Given the description of an element on the screen output the (x, y) to click on. 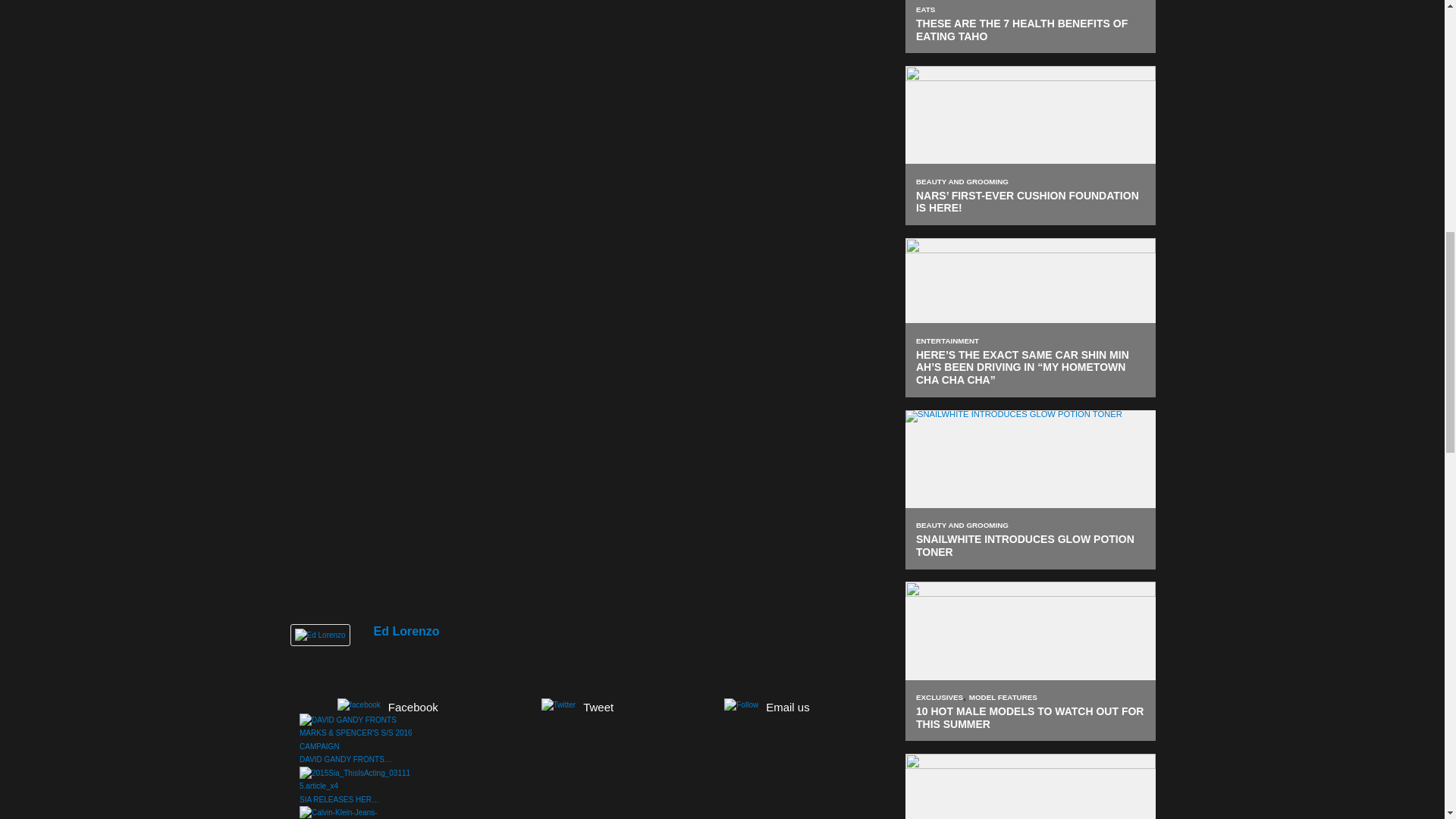
Facebook (387, 705)
Tweet (576, 705)
SIA RELEASES HER LATEST SINGLE "ONE MILLION BULLETS" (356, 779)
Ed Lorenzo (319, 633)
Ed Lorenzo (405, 631)
